Given the description of an element on the screen output the (x, y) to click on. 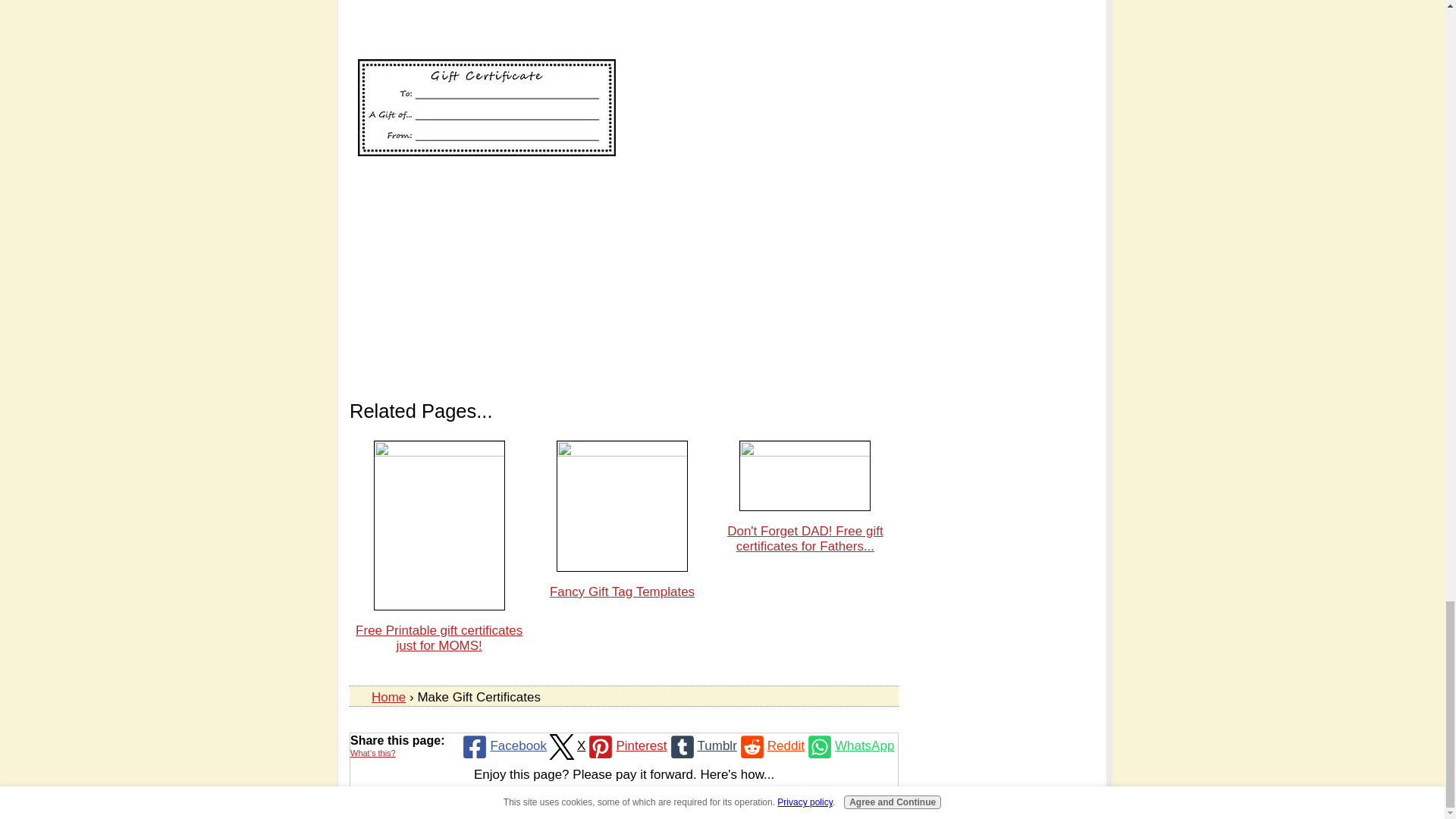
Go to Free Gift Tag Templates - Free Printable Gift Tags (621, 452)
Go to Fathers Day Gift Certificates (804, 452)
Go to Printable Gift Certificates For Mom (439, 452)
